Given the description of an element on the screen output the (x, y) to click on. 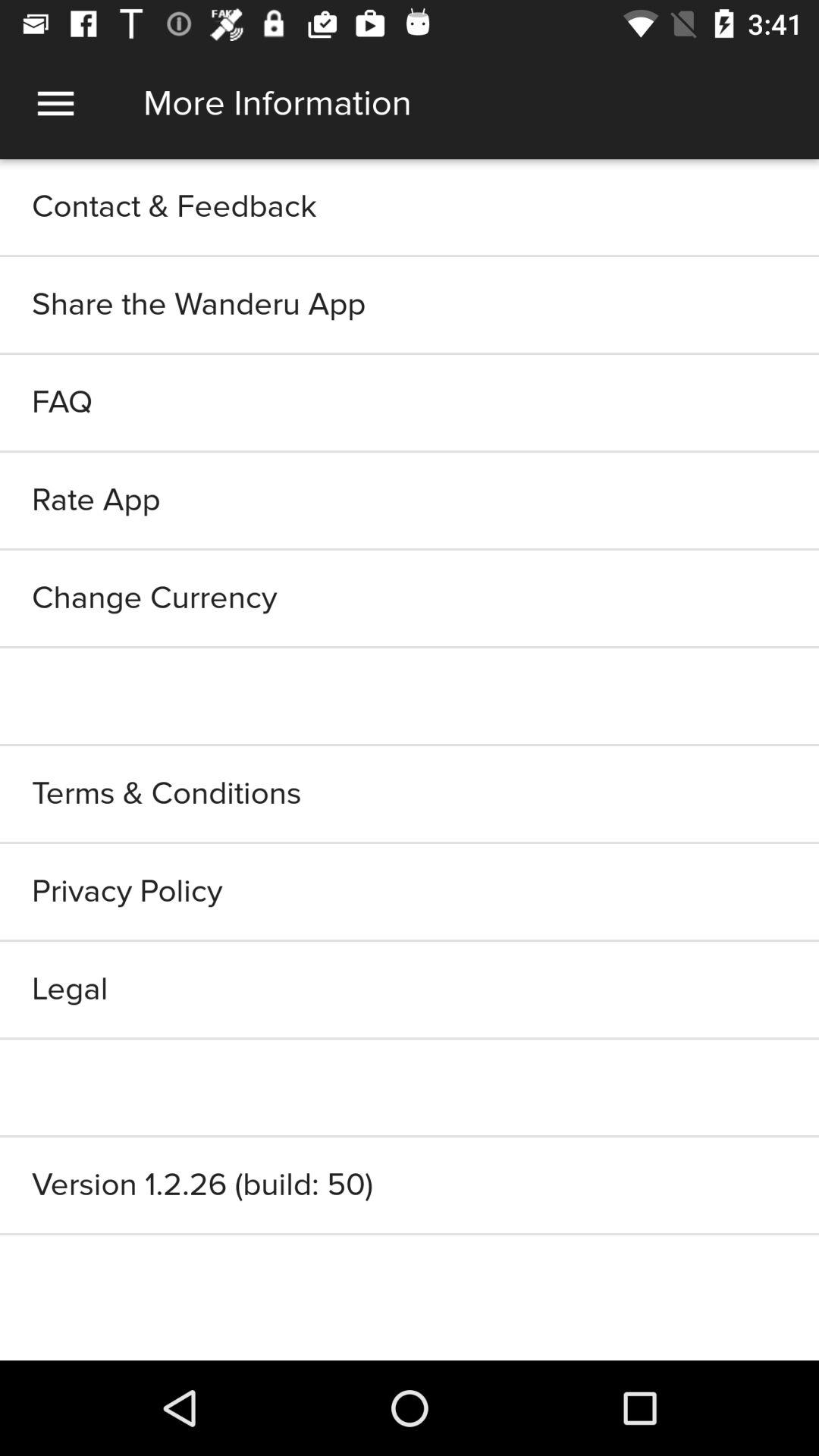
choose legal item (409, 989)
